Given the description of an element on the screen output the (x, y) to click on. 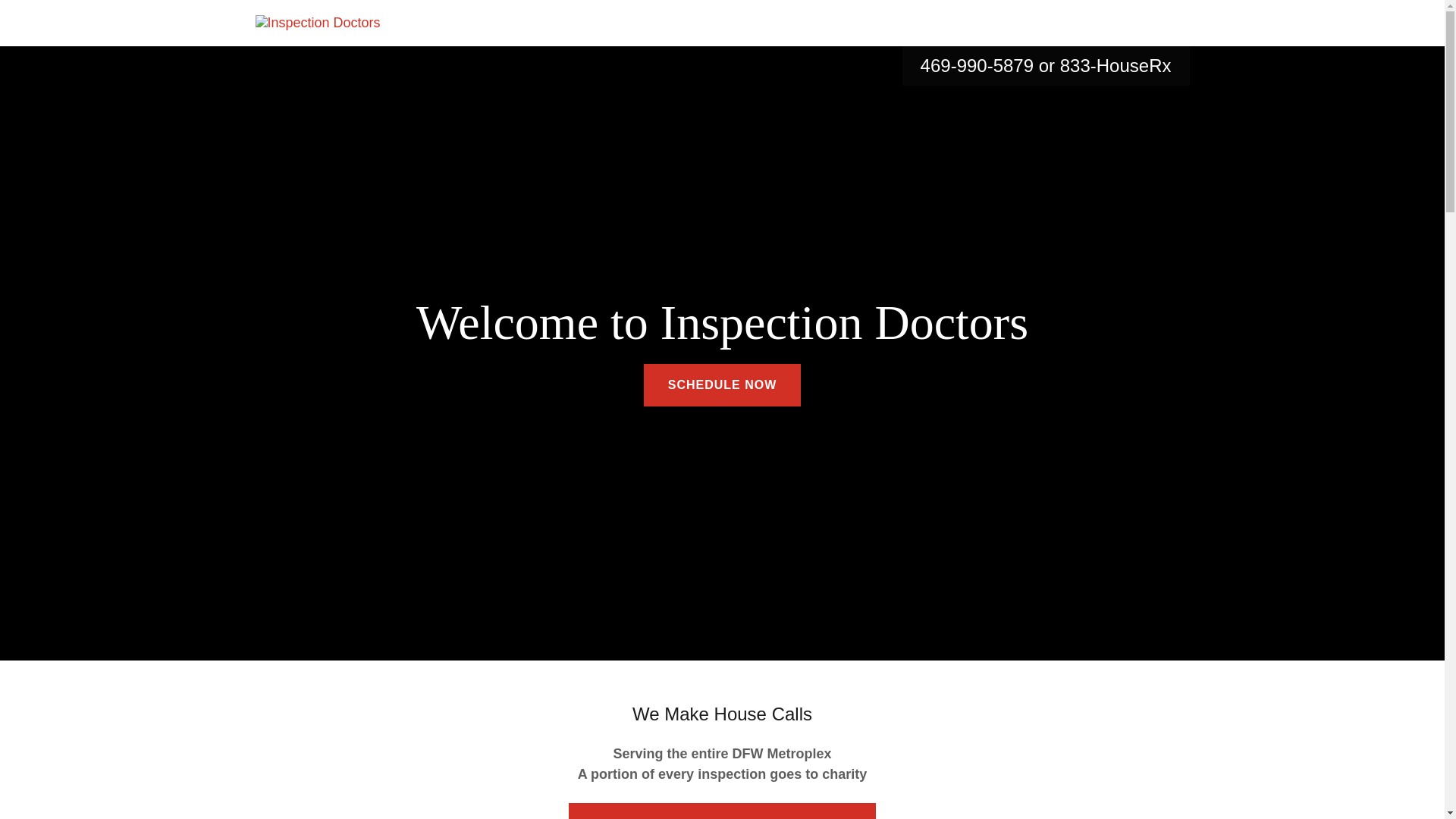
SCHEDULE NOW (722, 384)
Inspection Doctors (317, 22)
CALL FOR YOUR APPOINTMENT TODAY (722, 811)
833 (1074, 65)
469-990-5879 (976, 65)
